Given the description of an element on the screen output the (x, y) to click on. 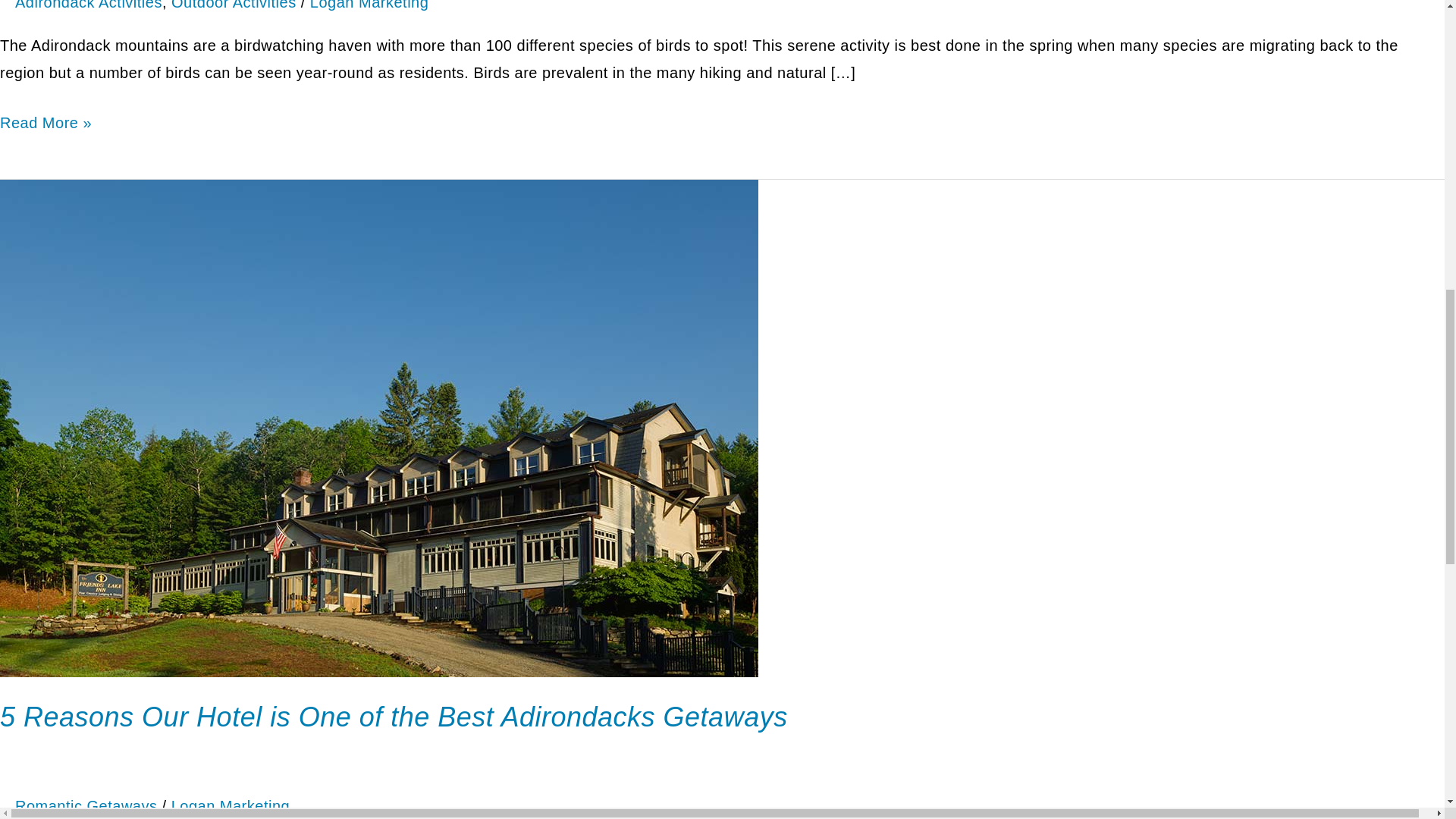
Outdoor Activities (234, 5)
Adirondack Activities (87, 5)
Logan Marketing (369, 5)
Romantic Getaways (85, 805)
5 Reasons Our Hotel is One of the Best Adirondacks Getaways (393, 716)
View all posts by Logan Marketing (230, 805)
Logan Marketing (230, 805)
View all posts by Logan Marketing (369, 5)
